Given the description of an element on the screen output the (x, y) to click on. 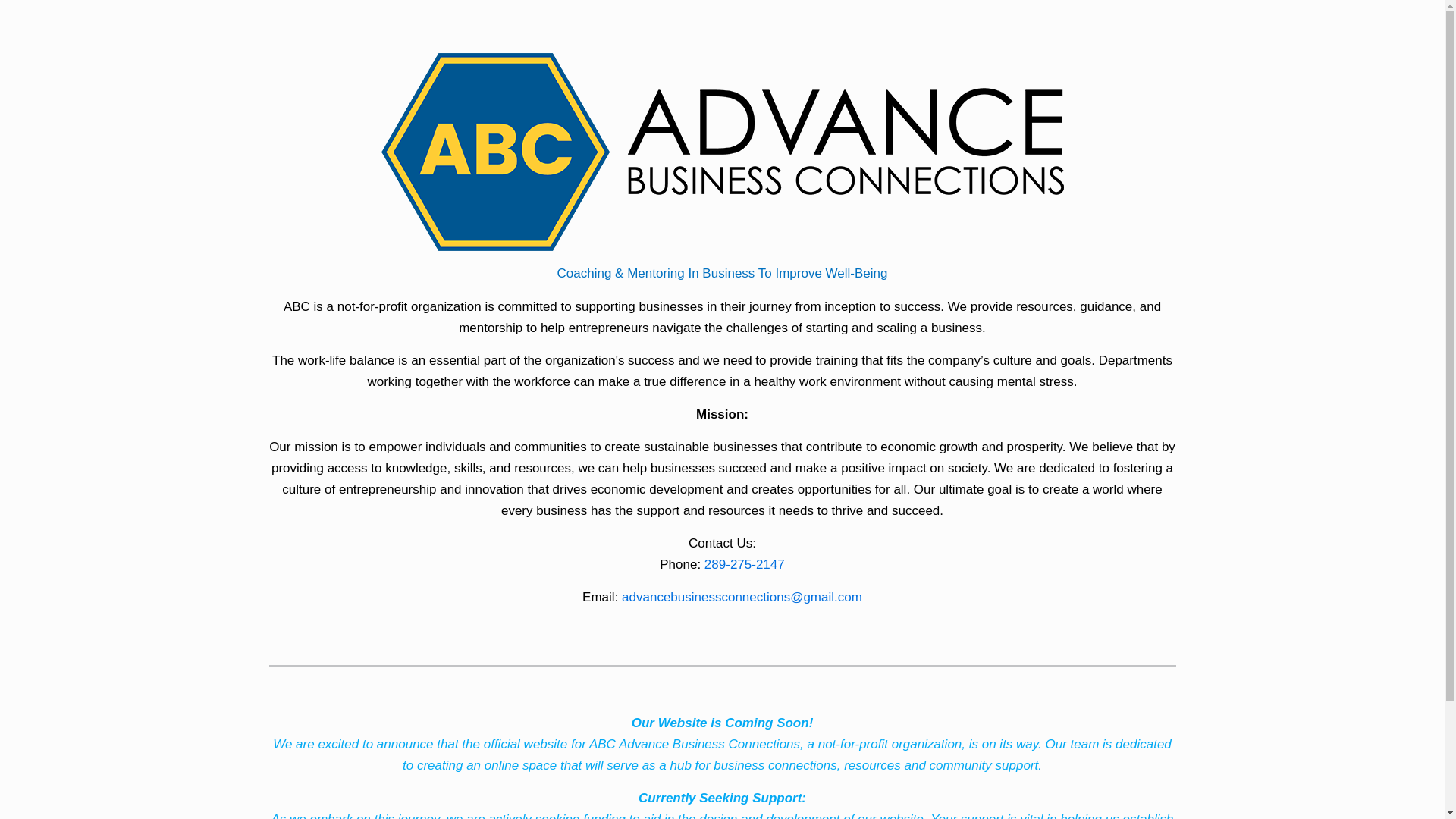
289-275-2147 Element type: text (744, 564)
advancebusinessconnections@gmail.com Element type: text (741, 596)
